Given the description of an element on the screen output the (x, y) to click on. 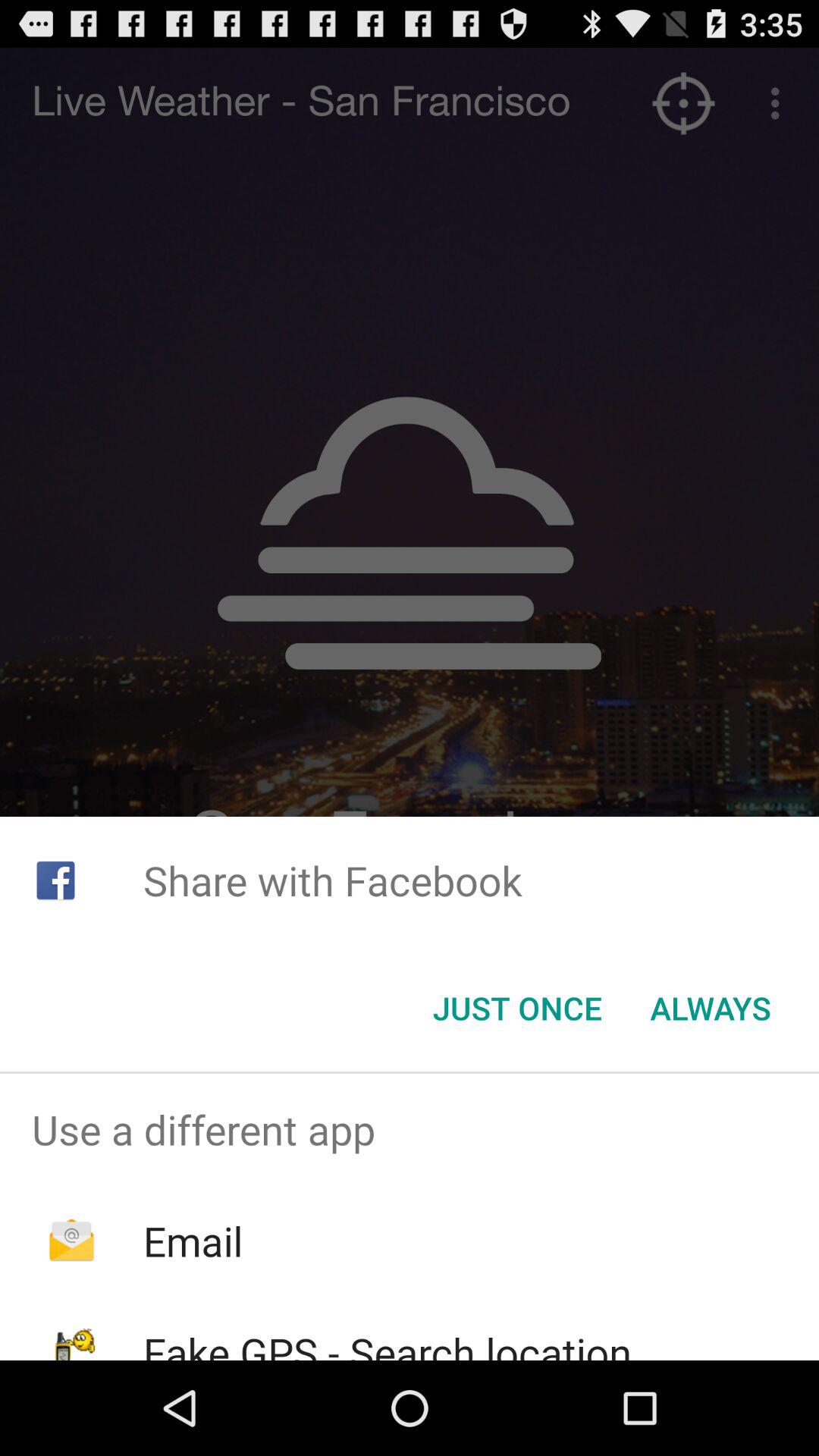
launch item below the email icon (387, 1342)
